Given the description of an element on the screen output the (x, y) to click on. 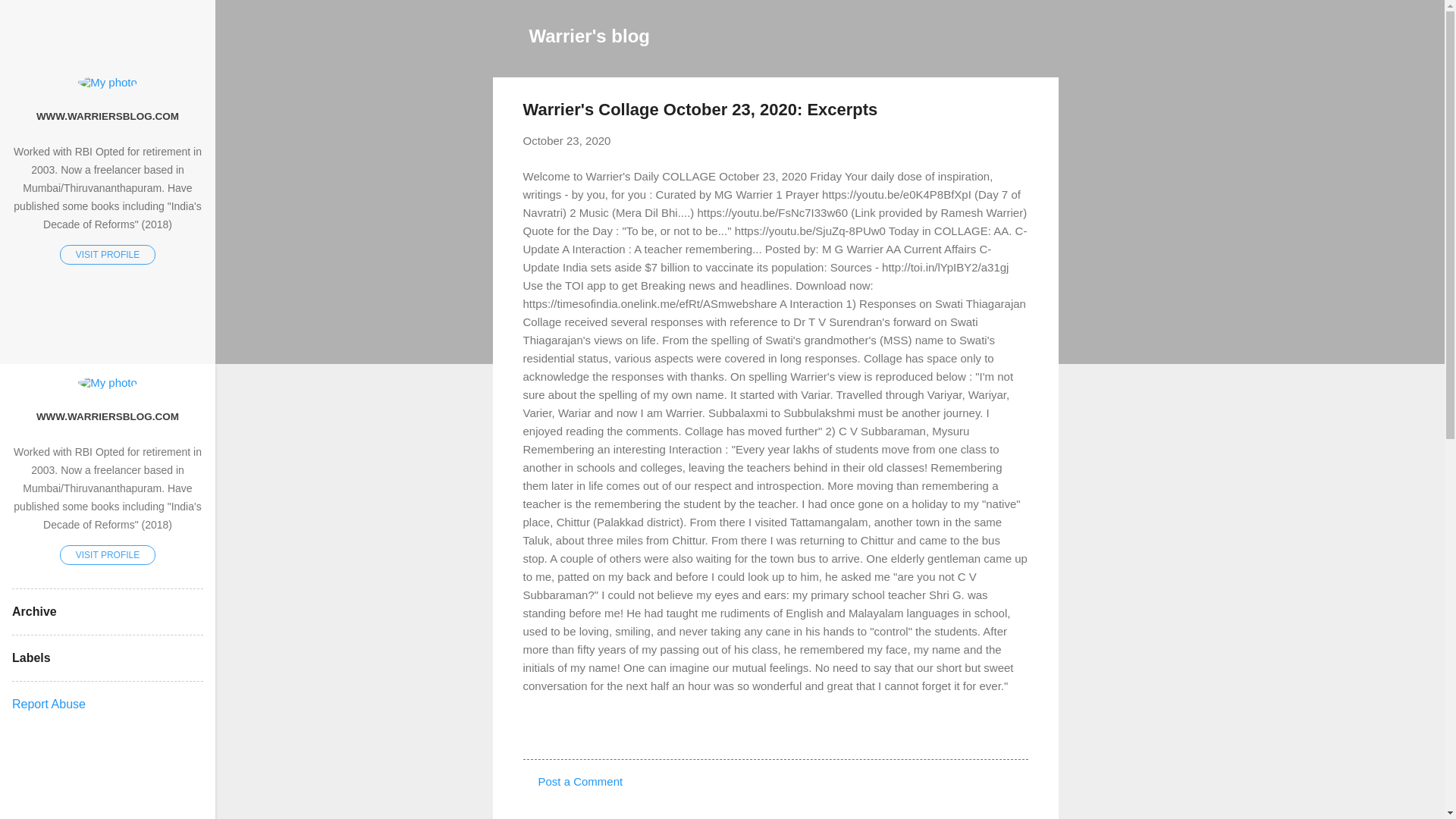
VISIT PROFILE (107, 254)
VISIT PROFILE (107, 554)
Warrier's blog (589, 35)
WWW.WARRIERSBLOG.COM (107, 416)
WWW.WARRIERSBLOG.COM (107, 115)
Search (29, 18)
Post a Comment (580, 780)
permanent link (566, 140)
October 23, 2020 (566, 140)
